Given the description of an element on the screen output the (x, y) to click on. 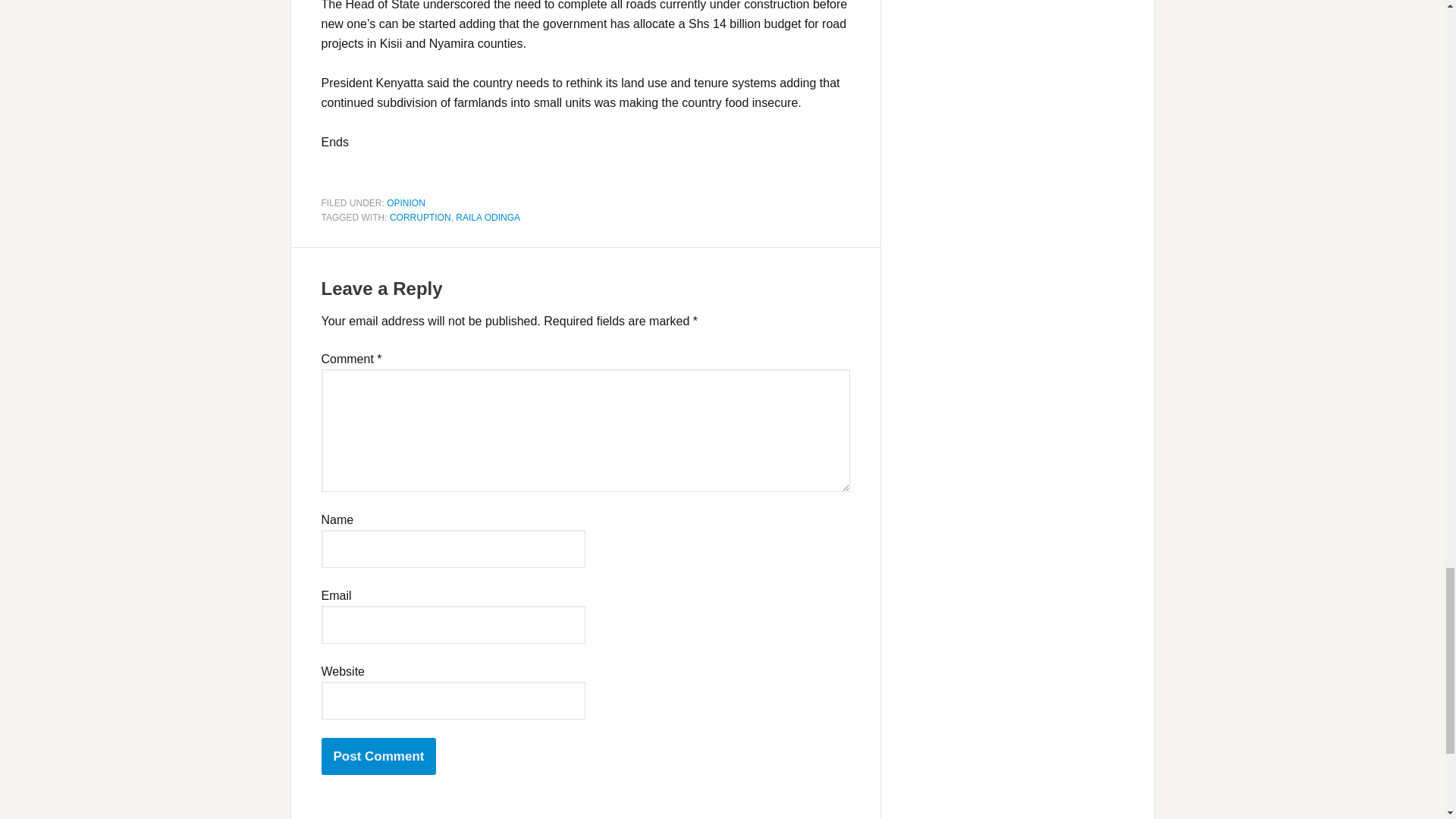
OPINION (406, 202)
RAILA ODINGA (487, 217)
Post Comment (378, 755)
Post Comment (378, 755)
CORRUPTION (420, 217)
